Given the description of an element on the screen output the (x, y) to click on. 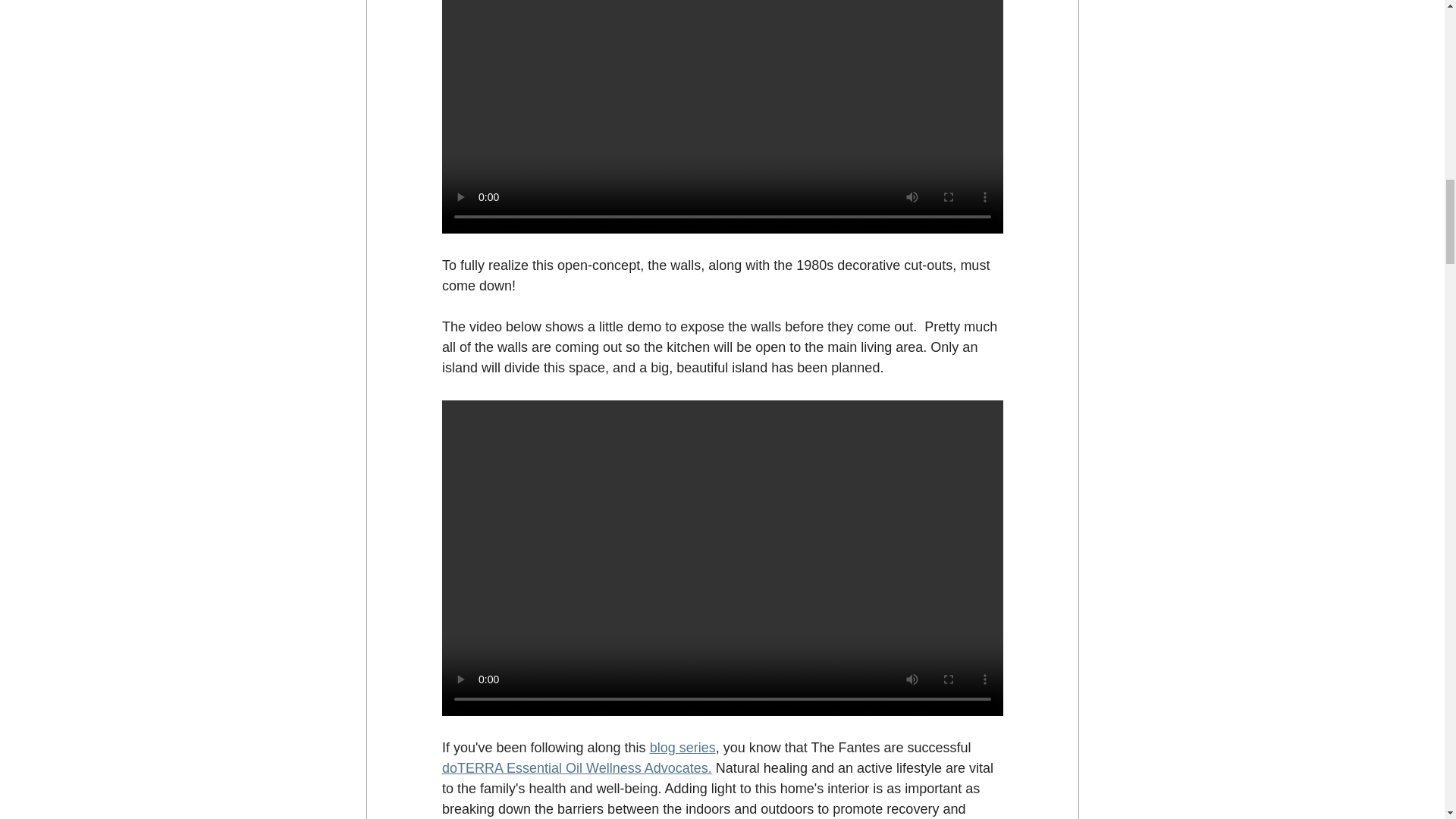
blog series (681, 747)
doTERRA Essential Oil Wellness Advocates. (576, 767)
